Given the description of an element on the screen output the (x, y) to click on. 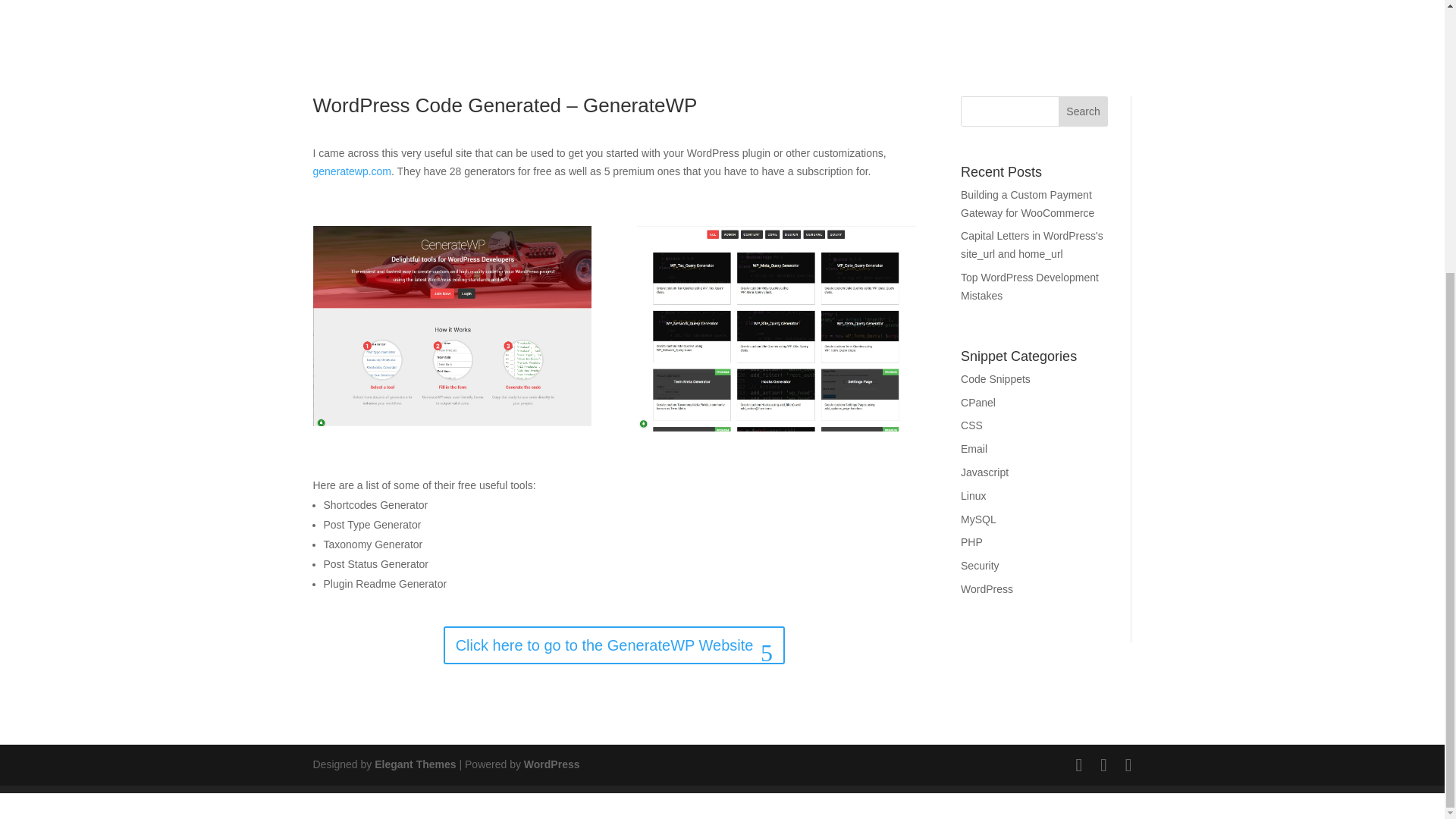
GenerateWP (452, 325)
generatewp.com (352, 171)
GenerateWP-2 (776, 328)
Premium WordPress Themes (414, 764)
Search (1083, 111)
